Given the description of an element on the screen output the (x, y) to click on. 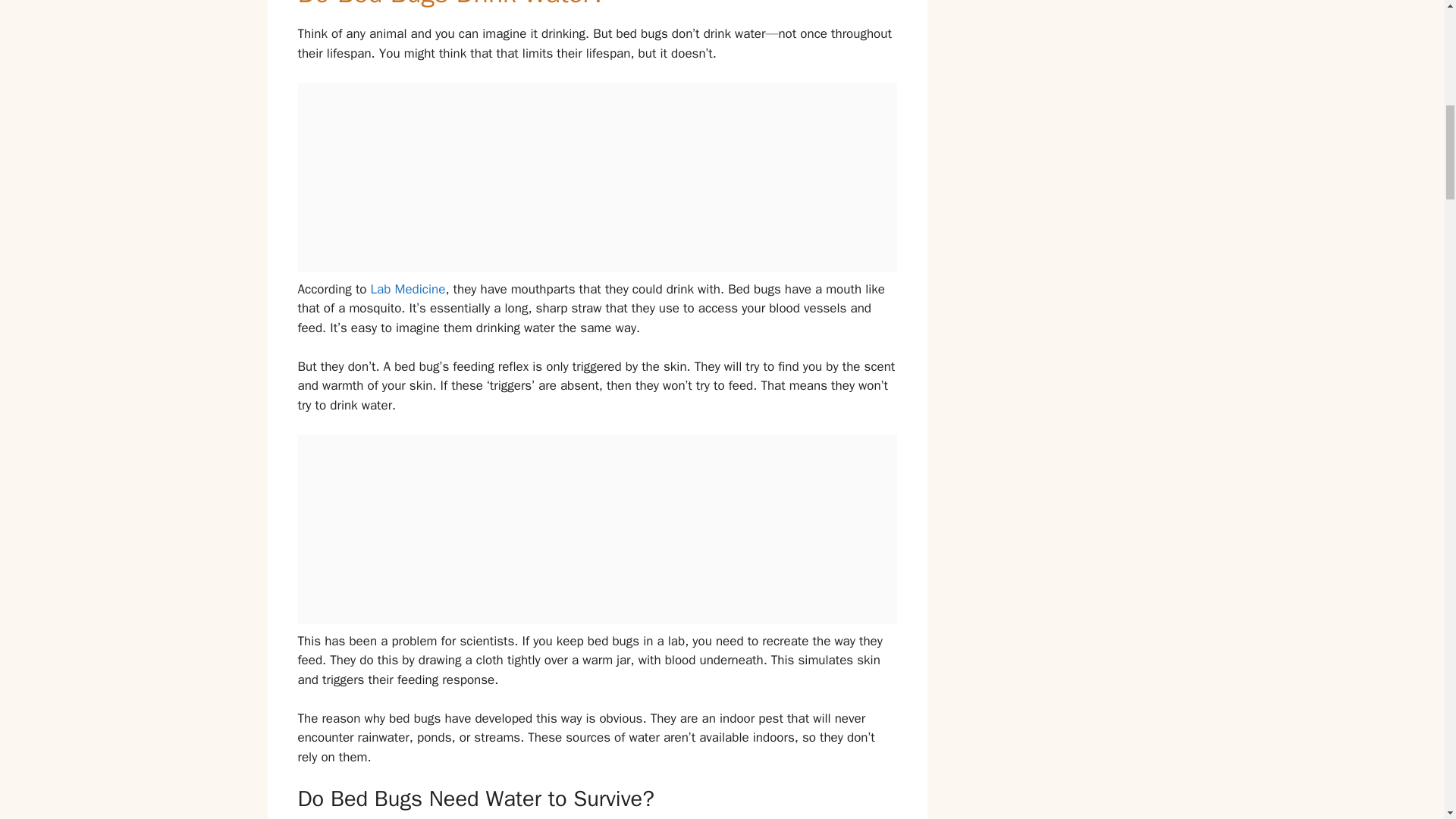
Lab Medicine (408, 289)
